Given the description of an element on the screen output the (x, y) to click on. 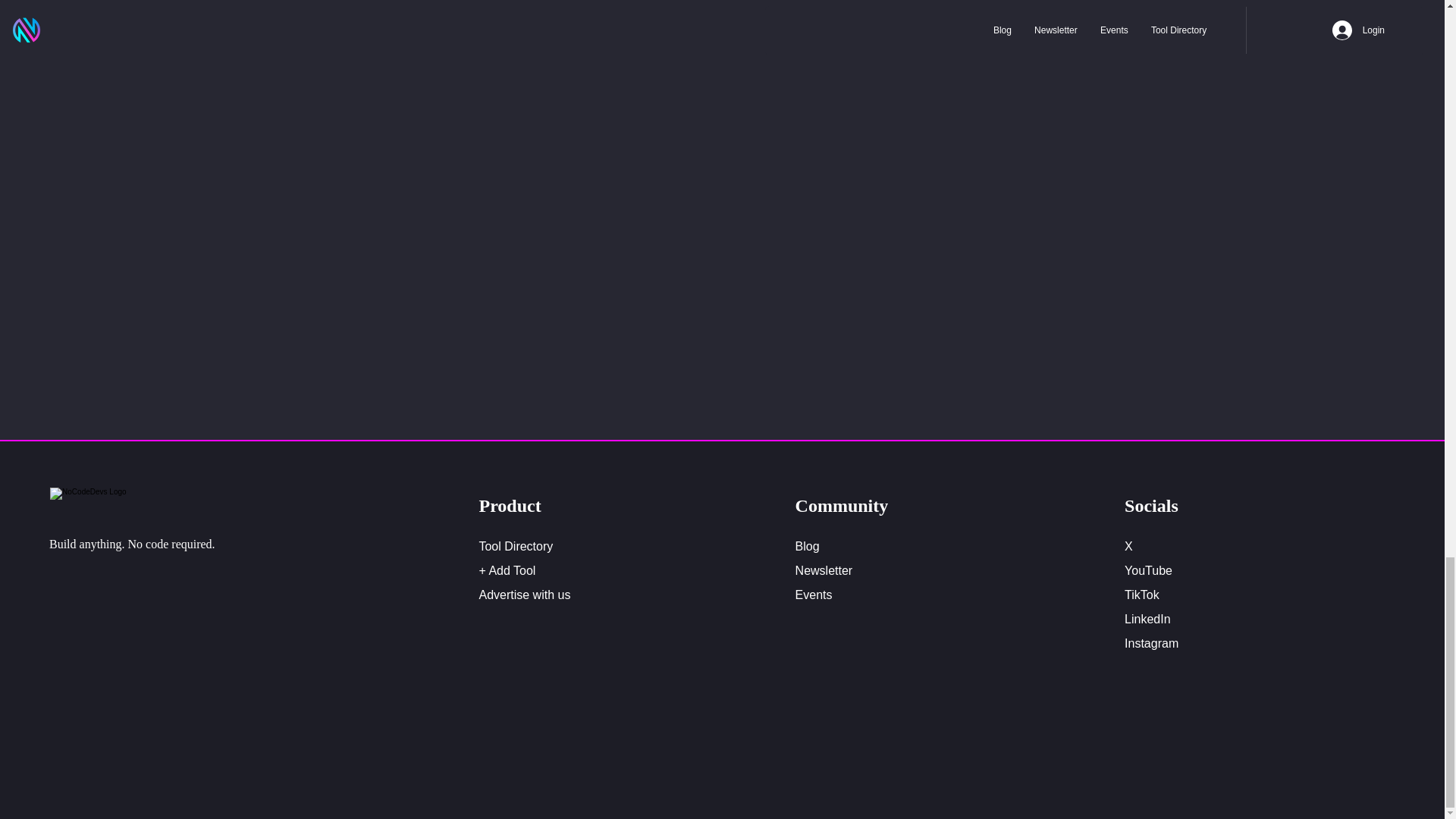
YouTube (1148, 570)
Tool Directory (516, 545)
X (1128, 545)
Events (813, 594)
Advertise with us (524, 594)
LinkedIn (1147, 618)
TikTok (1141, 594)
Newsletter (823, 570)
Instagram (1150, 643)
Blog (806, 545)
